Given the description of an element on the screen output the (x, y) to click on. 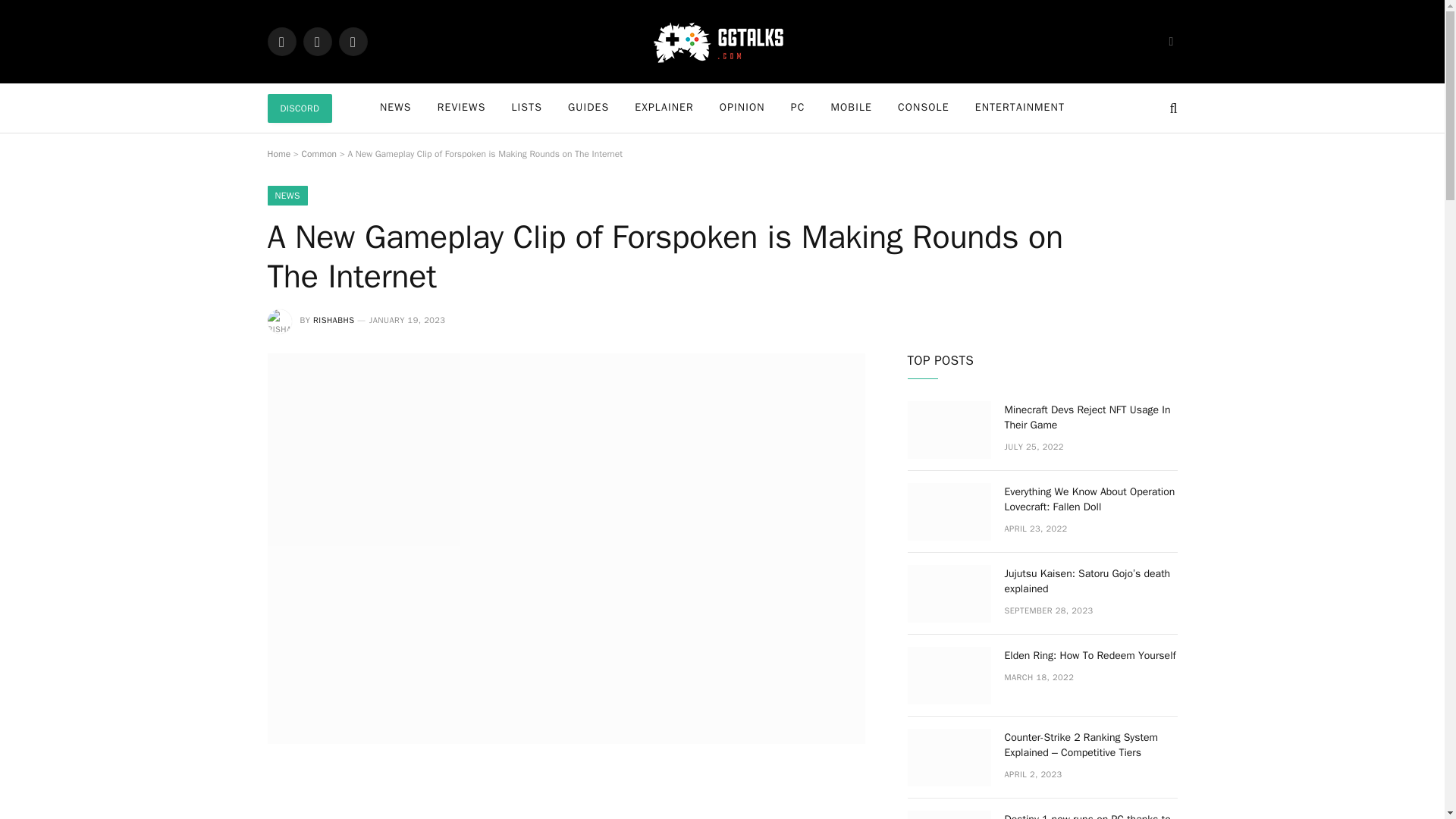
LISTS (525, 107)
NEWS (395, 107)
CONSOLE (923, 107)
Instagram (351, 41)
GUIDES (587, 107)
Posts by Rishabhs (333, 319)
NEWS (286, 195)
Facebook (280, 41)
REVIEWS (462, 107)
DISCORD (298, 108)
